Given the description of an element on the screen output the (x, y) to click on. 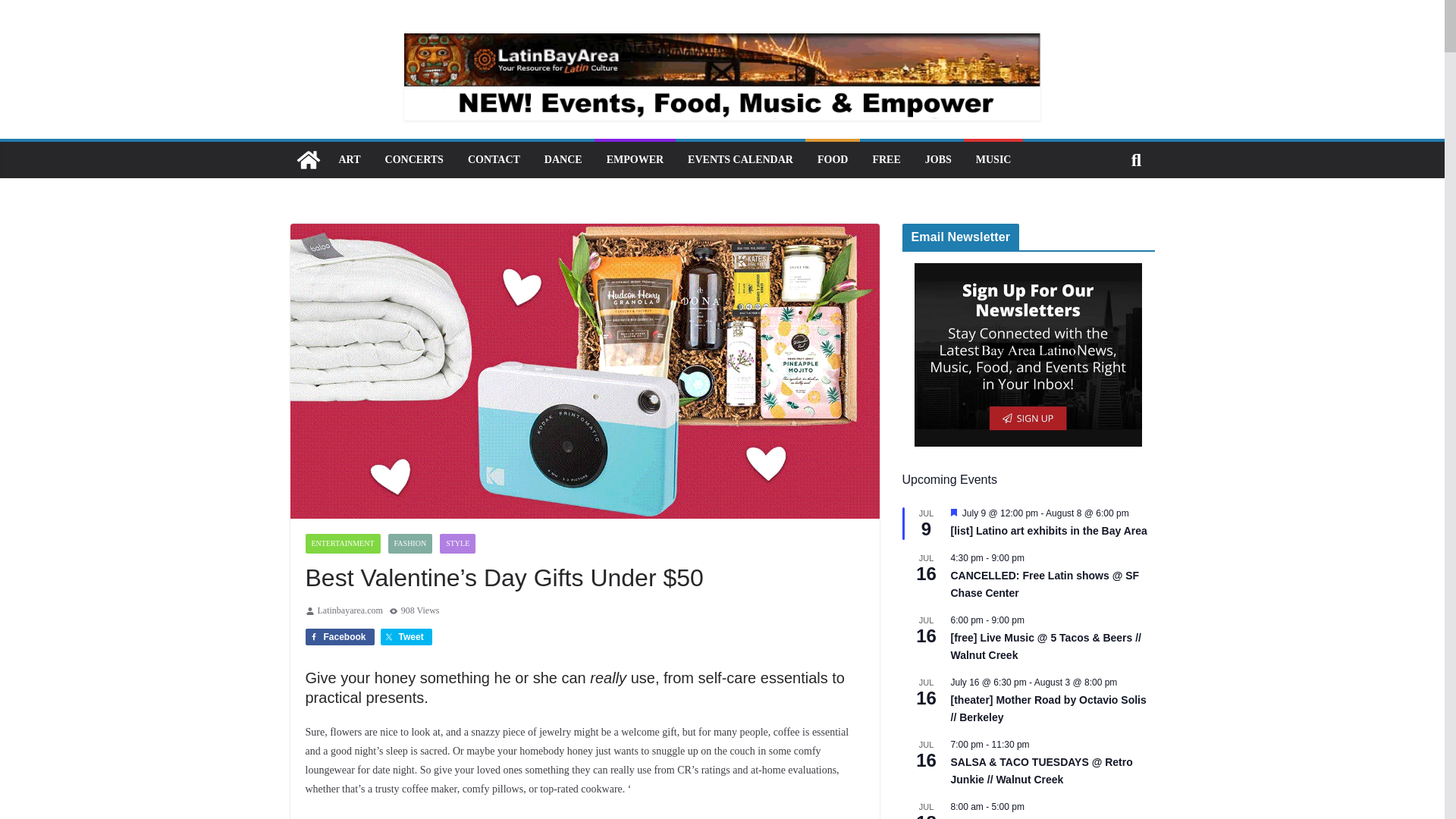
Tweet (406, 636)
DANCE (563, 159)
CONTACT (493, 159)
Share on Twitter (406, 636)
JOBS (938, 159)
LatinBayArea.com (307, 159)
MUSIC (993, 159)
EMPOWER (635, 159)
FASHION (410, 543)
ART (348, 159)
Share on Facebook (339, 636)
ENTERTAINMENT (342, 543)
FREE (885, 159)
CONCERTS (414, 159)
STYLE (457, 543)
